Given the description of an element on the screen output the (x, y) to click on. 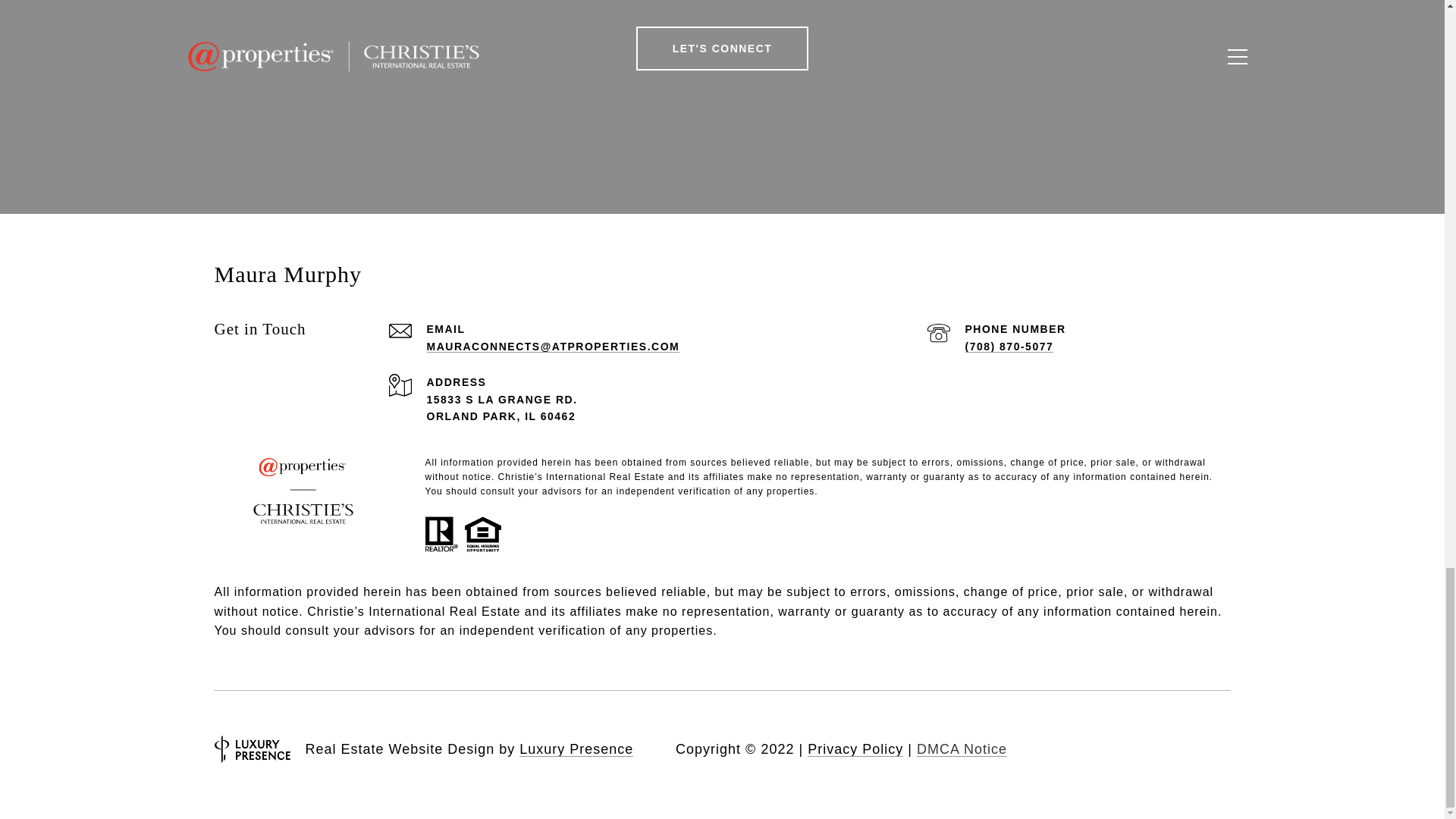
LET'S CONNECT (722, 48)
